Given the description of an element on the screen output the (x, y) to click on. 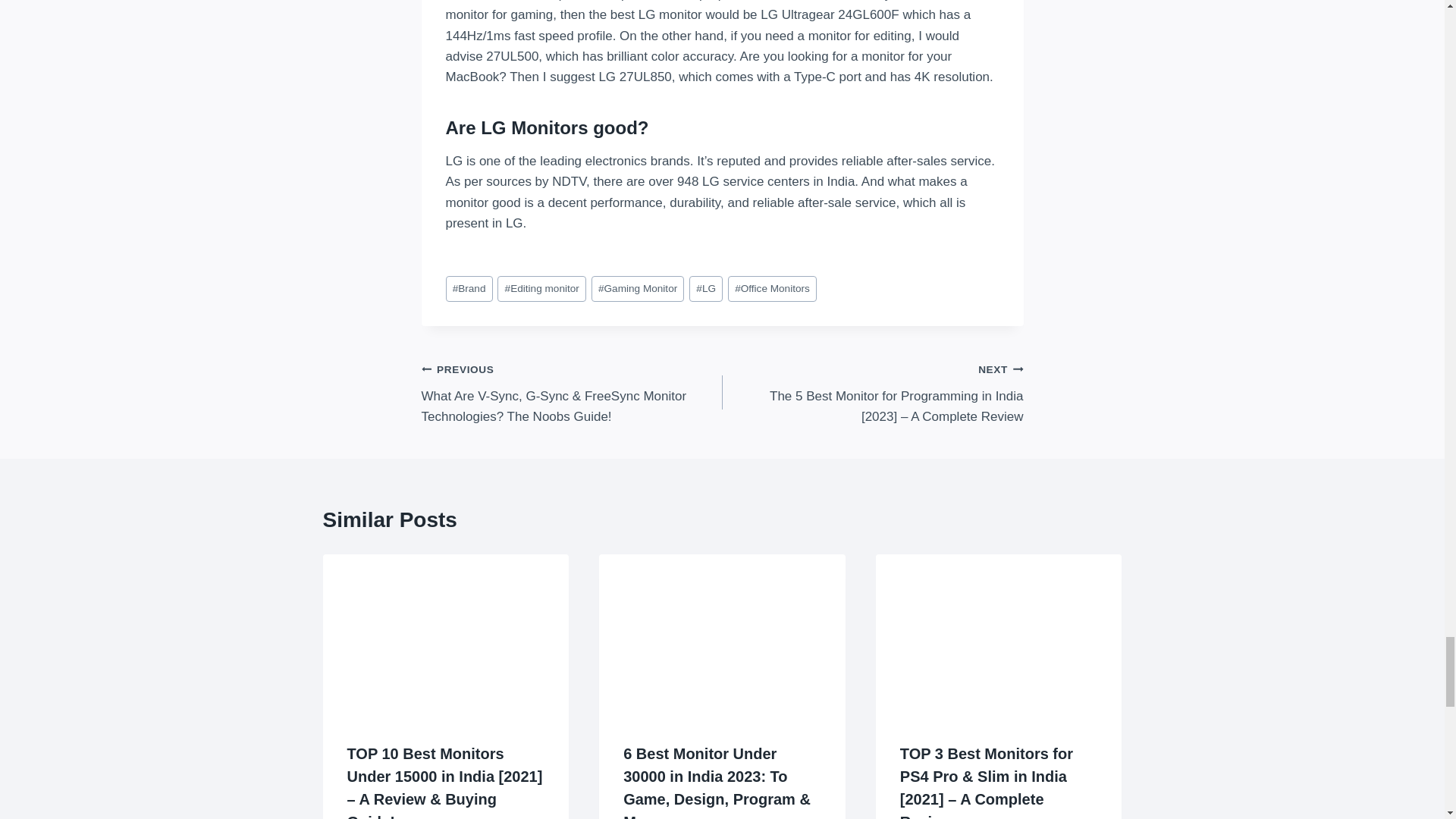
Editing monitor (541, 289)
Gaming Monitor (637, 289)
Brand (469, 289)
Office Monitors (772, 289)
LG (705, 289)
